Given the description of an element on the screen output the (x, y) to click on. 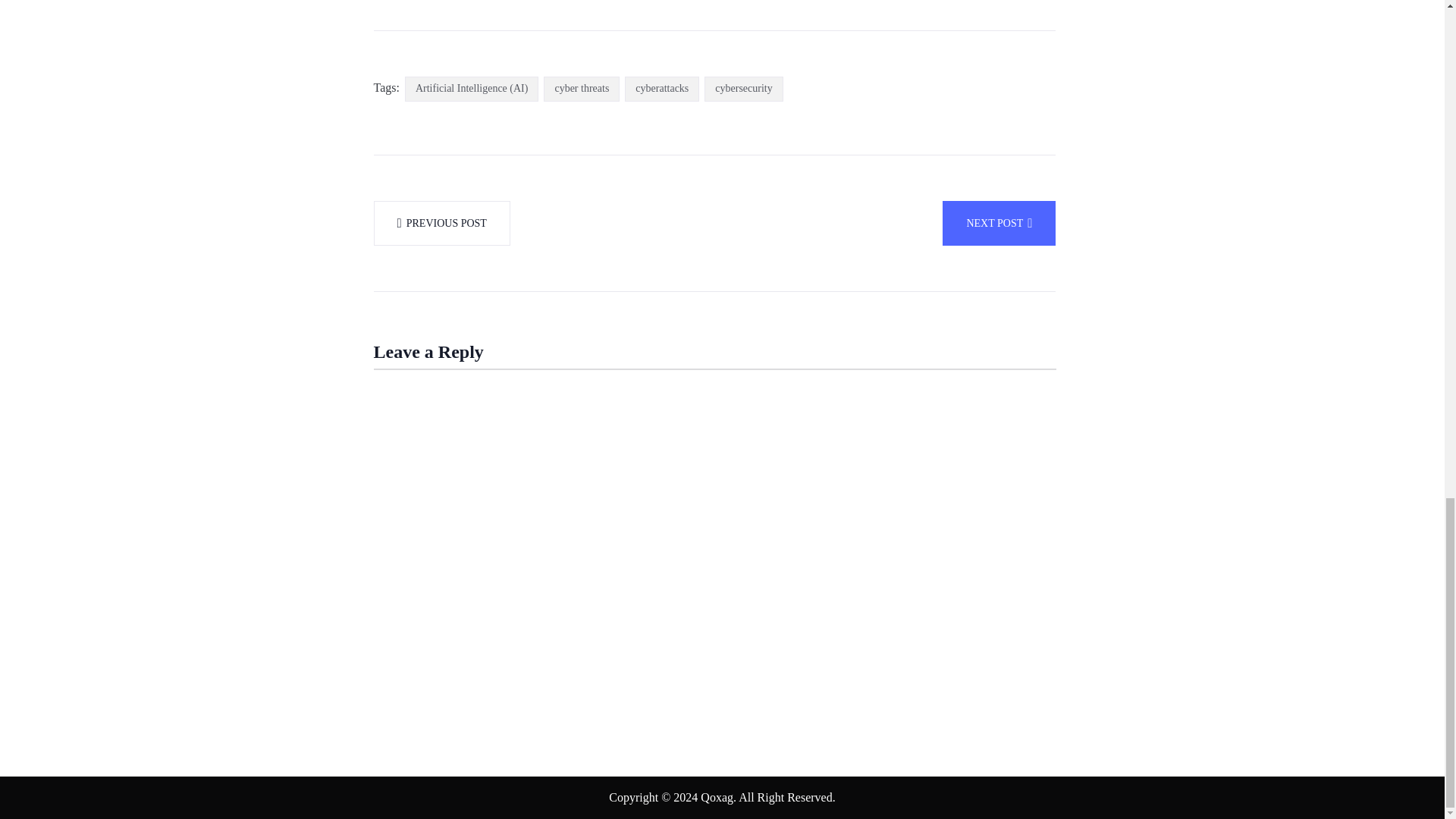
NEXT POST (998, 222)
PREVIOUS POST (440, 222)
cyber threats (581, 88)
cybersecurity (743, 88)
cyberattacks (661, 88)
